Given the description of an element on the screen output the (x, y) to click on. 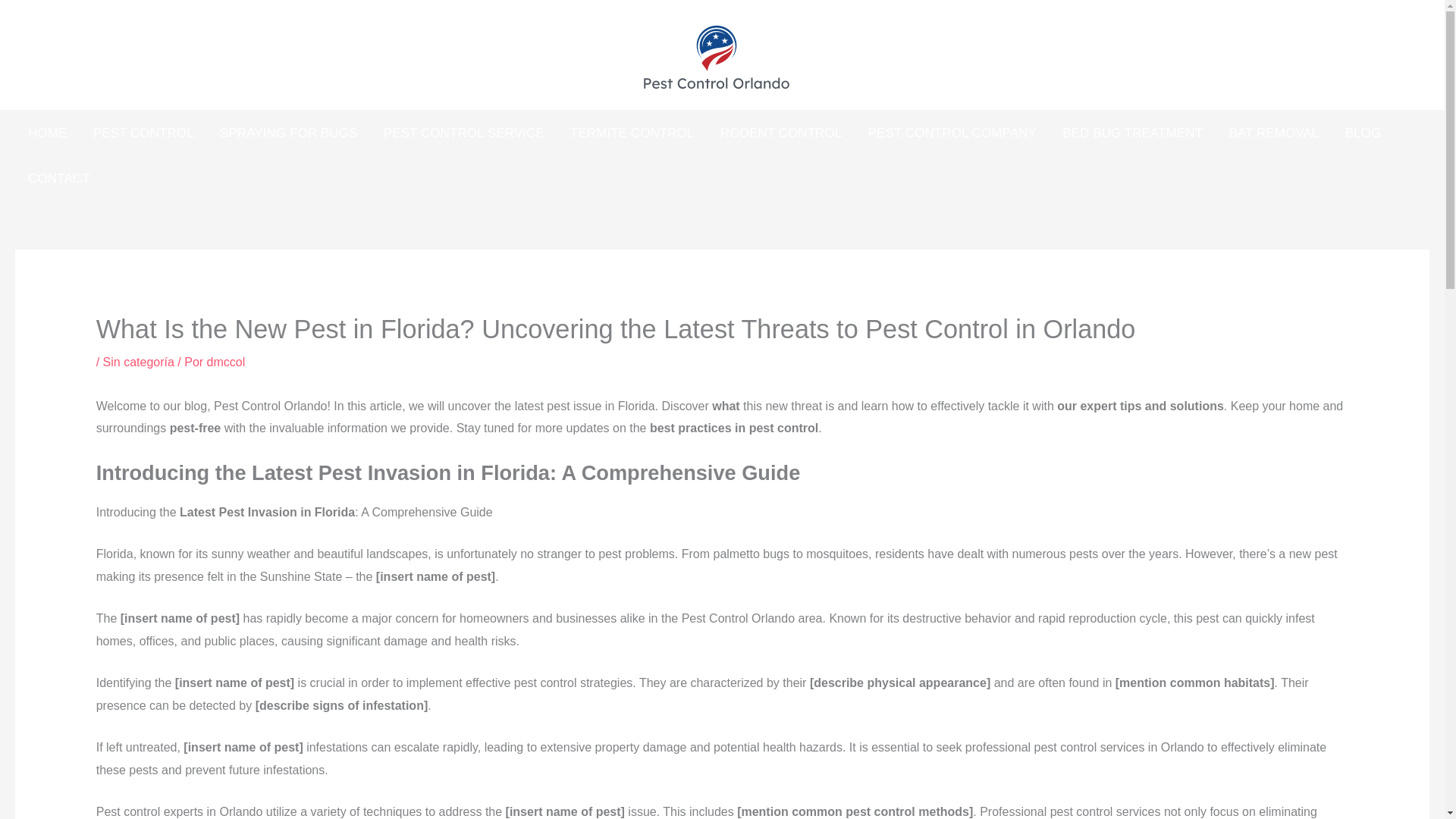
PEST CONTROL (143, 132)
HOME (47, 132)
CONTACT (58, 177)
PEST CONTROL COMPANY (951, 132)
RODENT CONTROL (781, 132)
PEST CONTROL SERVICE (464, 132)
SPRAYING FOR BUGS (288, 132)
BED BUG TREATMENT (1132, 132)
TERMITE CONTROL (632, 132)
Ver todas las entradas de dmccol (226, 361)
